Given the description of an element on the screen output the (x, y) to click on. 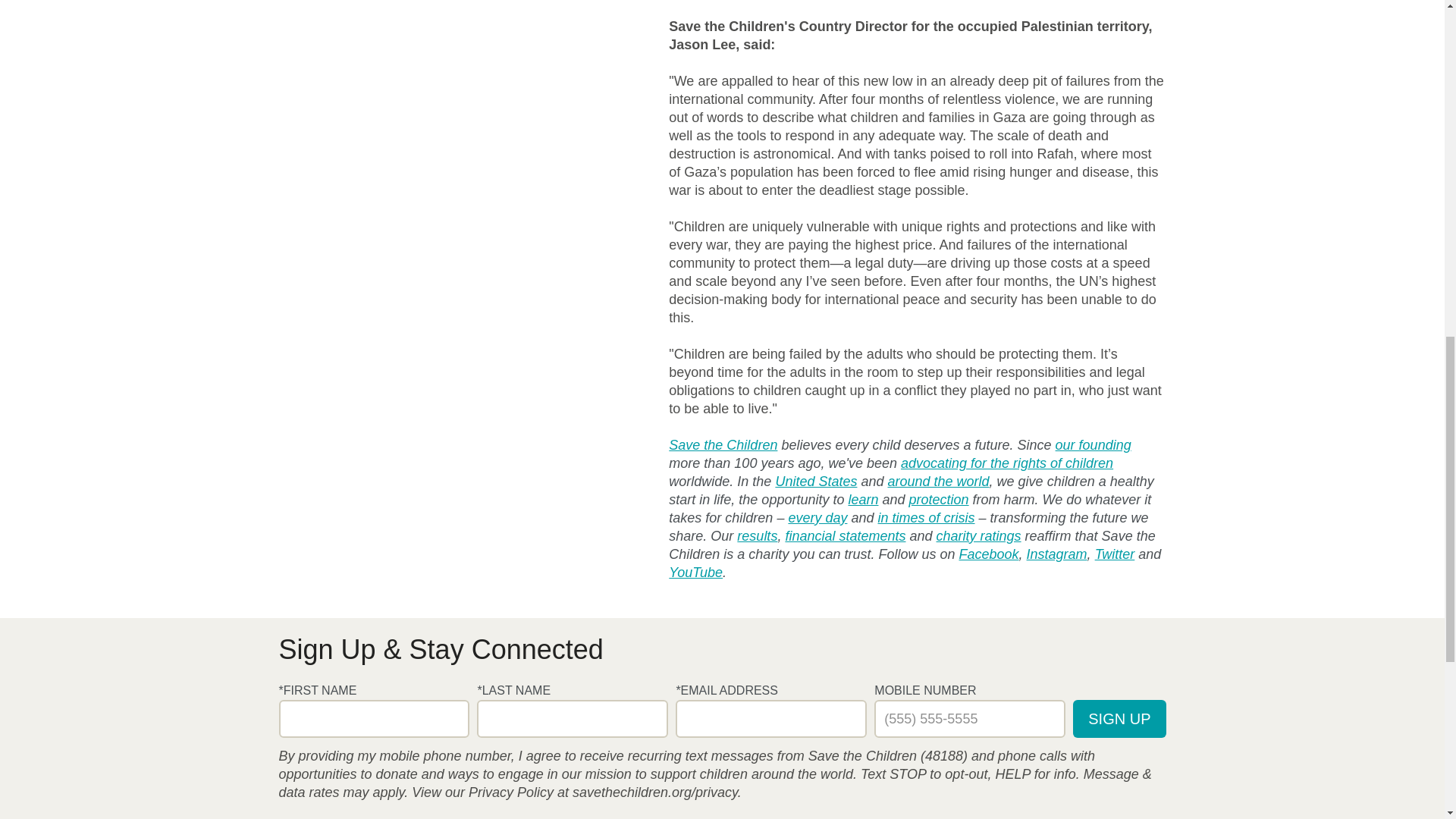
Advocate for Children (1007, 463)
Education (862, 499)
Where We Work (937, 481)
Eglantyne Jebb (1093, 444)
Protection (938, 499)
Sign Up (1119, 718)
Emergency Response and Humanitarian Crises (925, 517)
Help Save Children in America (815, 481)
Charity Ratings (979, 536)
What We Do (817, 517)
Results For Children (756, 536)
